Given the description of an element on the screen output the (x, y) to click on. 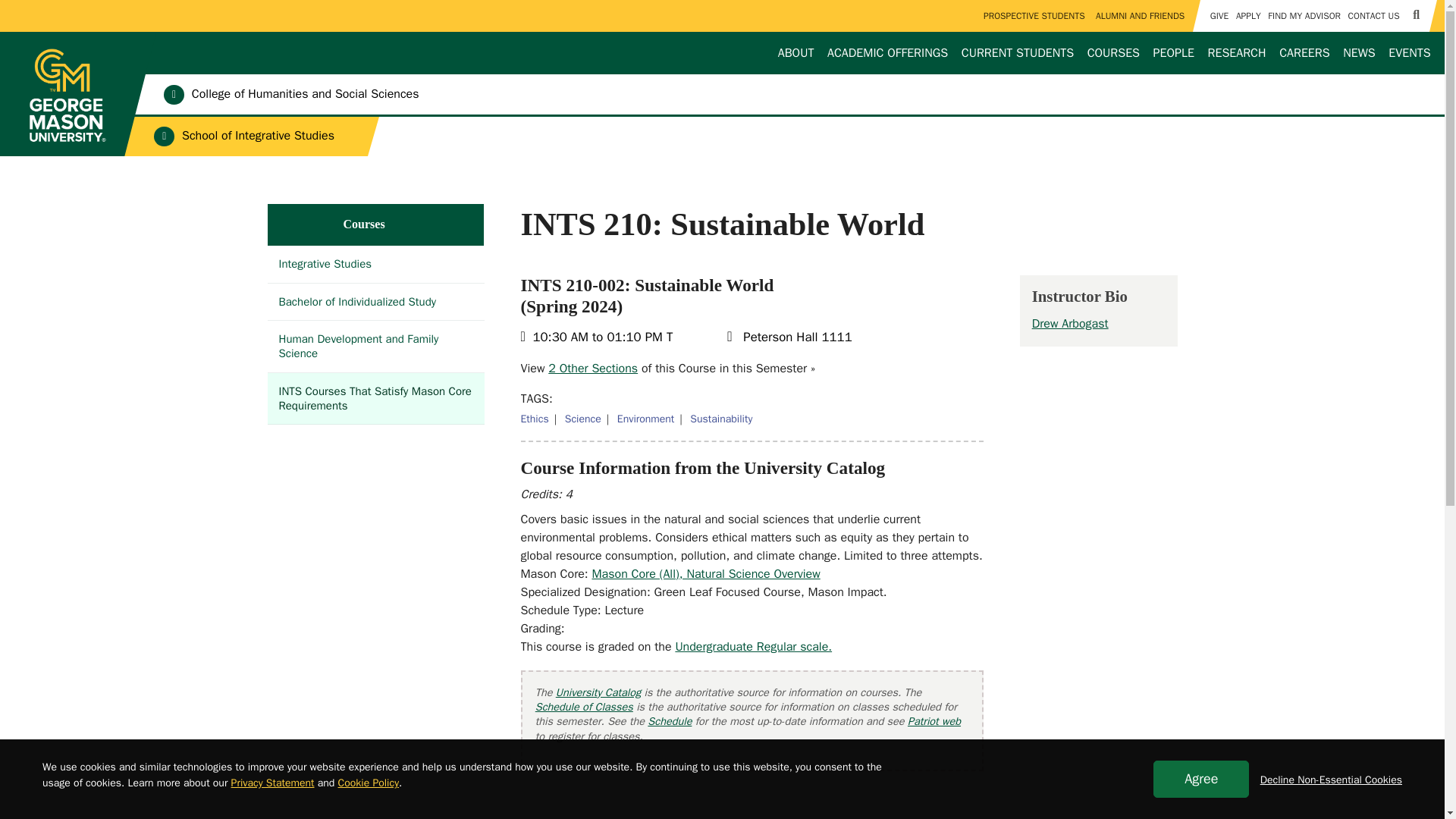
George Mason University Cookie Policy (367, 782)
Academic Offerings (887, 52)
Research (1236, 52)
APPLY (1247, 15)
News (1359, 52)
CURRENT STUDENTS (1017, 52)
Cookie Policy (367, 782)
Courses (1112, 52)
COURSES (1112, 52)
Events (1409, 52)
Prospective Students (1033, 15)
ACADEMIC OFFERINGS (887, 52)
ABOUT (795, 52)
Privacy Statement (272, 782)
Current Students (1017, 52)
